Given the description of an element on the screen output the (x, y) to click on. 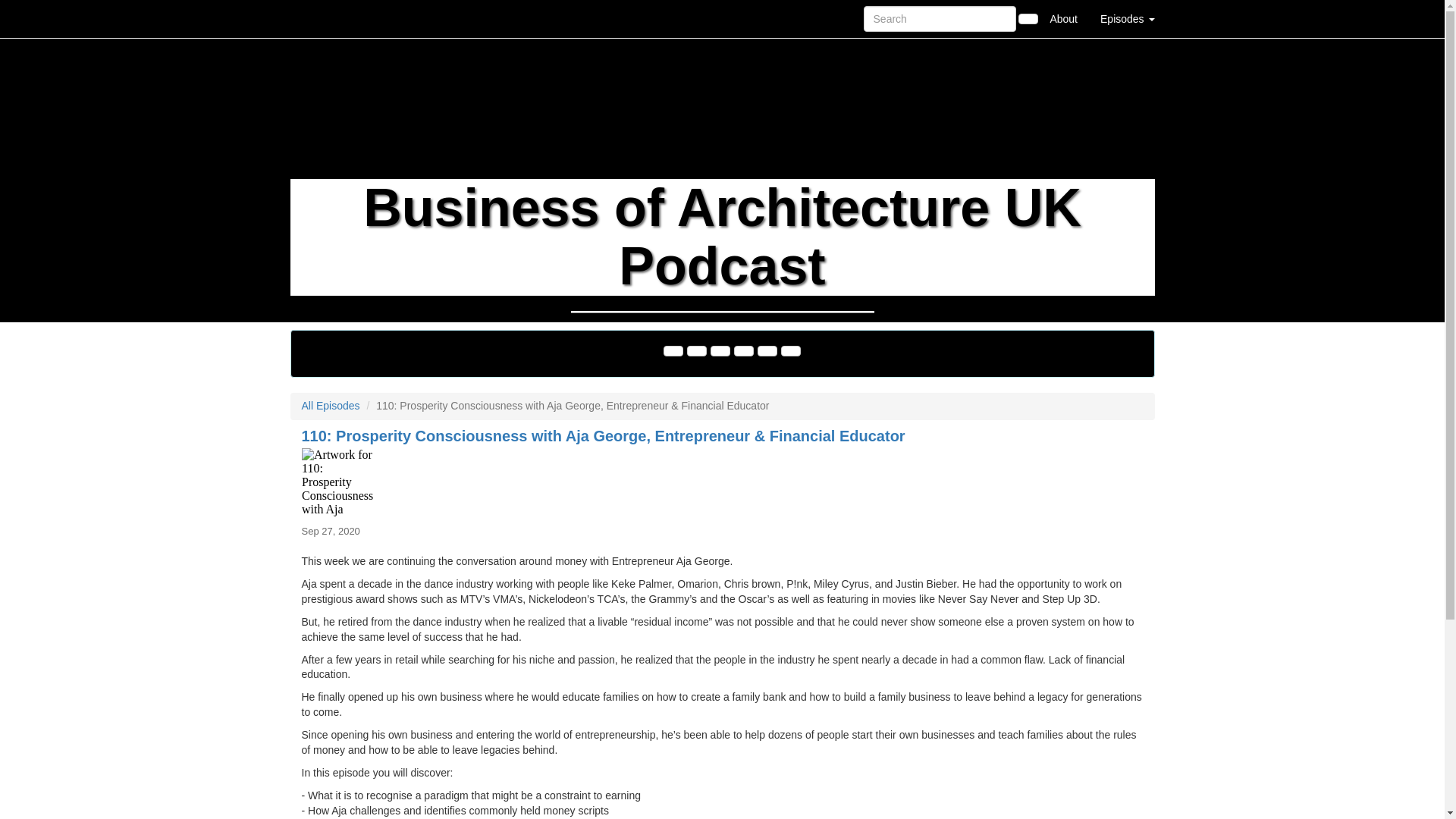
About (1063, 18)
Episodes (1127, 18)
Home Page (320, 18)
